Given the description of an element on the screen output the (x, y) to click on. 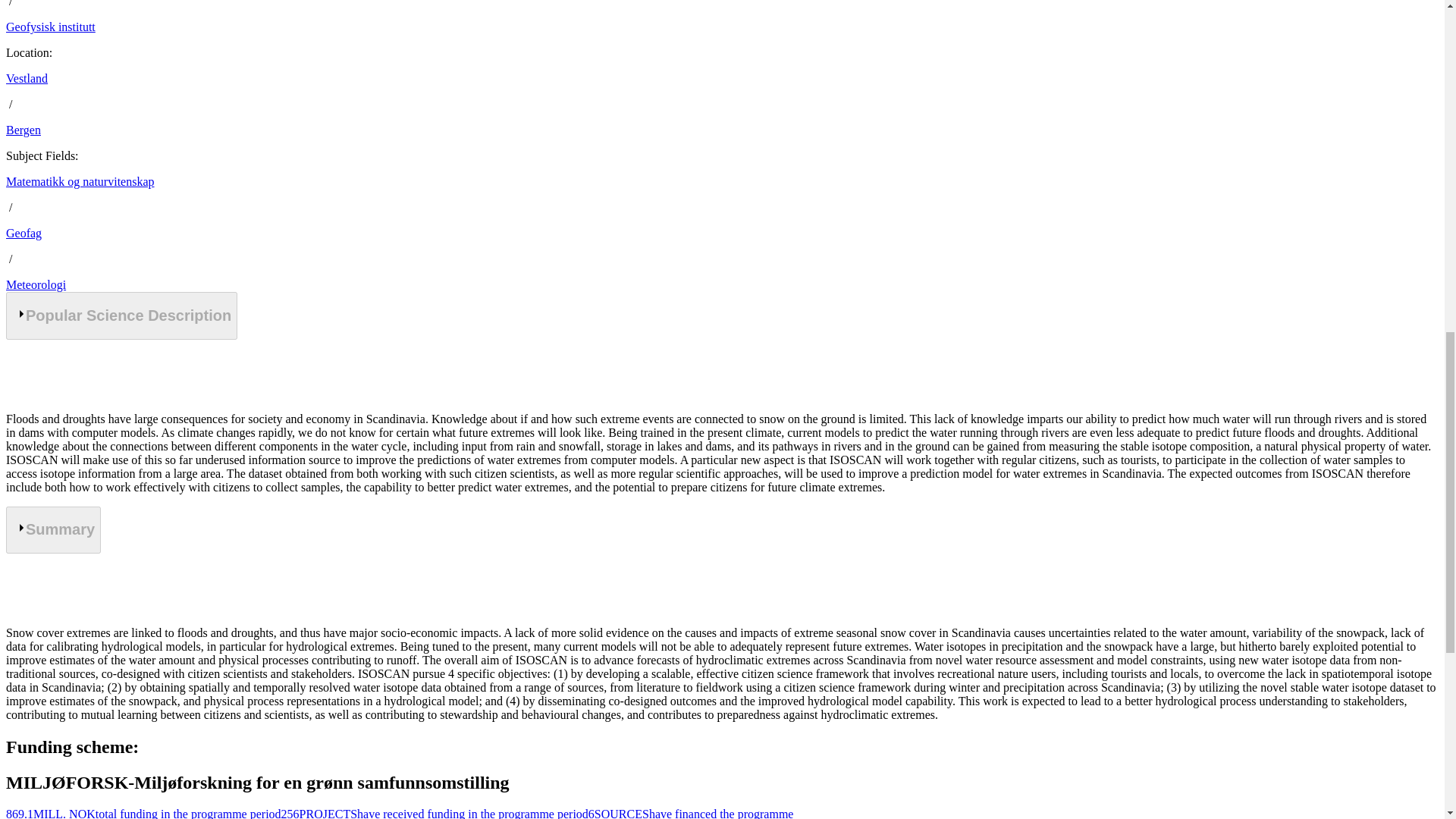
Bergen (22, 129)
869.1MILL. NOKtotal funding in the programme period (143, 813)
Geofysisk institutt (50, 26)
Meteorologi (35, 284)
Geofag (23, 232)
6SOURCEShave financed the programme (690, 813)
Vestland (26, 78)
Popular Science Description (121, 315)
Matematikk og naturvitenskap (79, 181)
256PROJECTShave received funding in the programme period (434, 813)
